Given the description of an element on the screen output the (x, y) to click on. 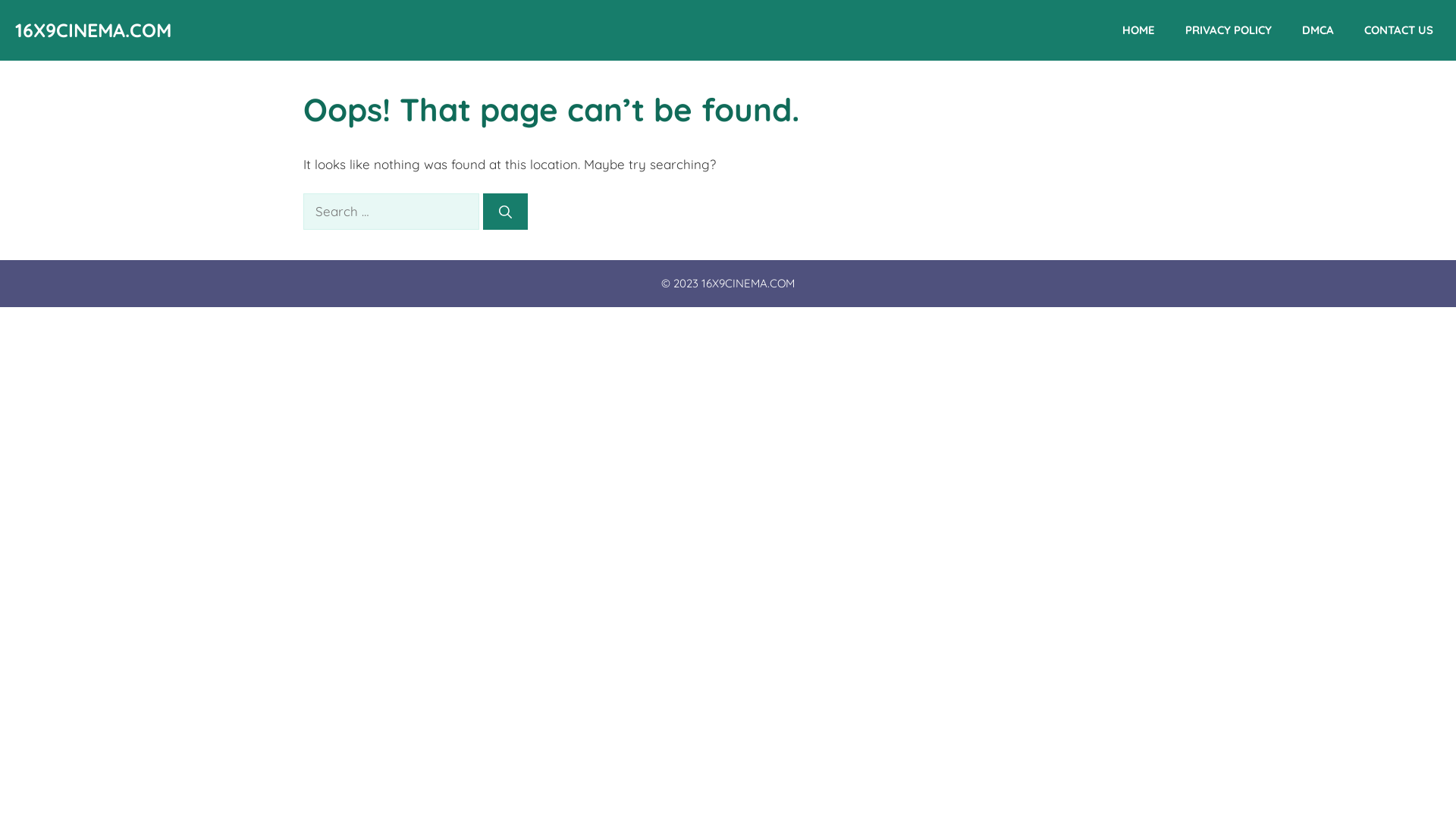
HOME Element type: text (1138, 30)
DMCA Element type: text (1317, 30)
PRIVACY POLICY Element type: text (1228, 30)
Search for: Element type: hover (391, 211)
CONTACT US Element type: text (1398, 30)
16X9CINEMA.COM Element type: text (93, 30)
